Given the description of an element on the screen output the (x, y) to click on. 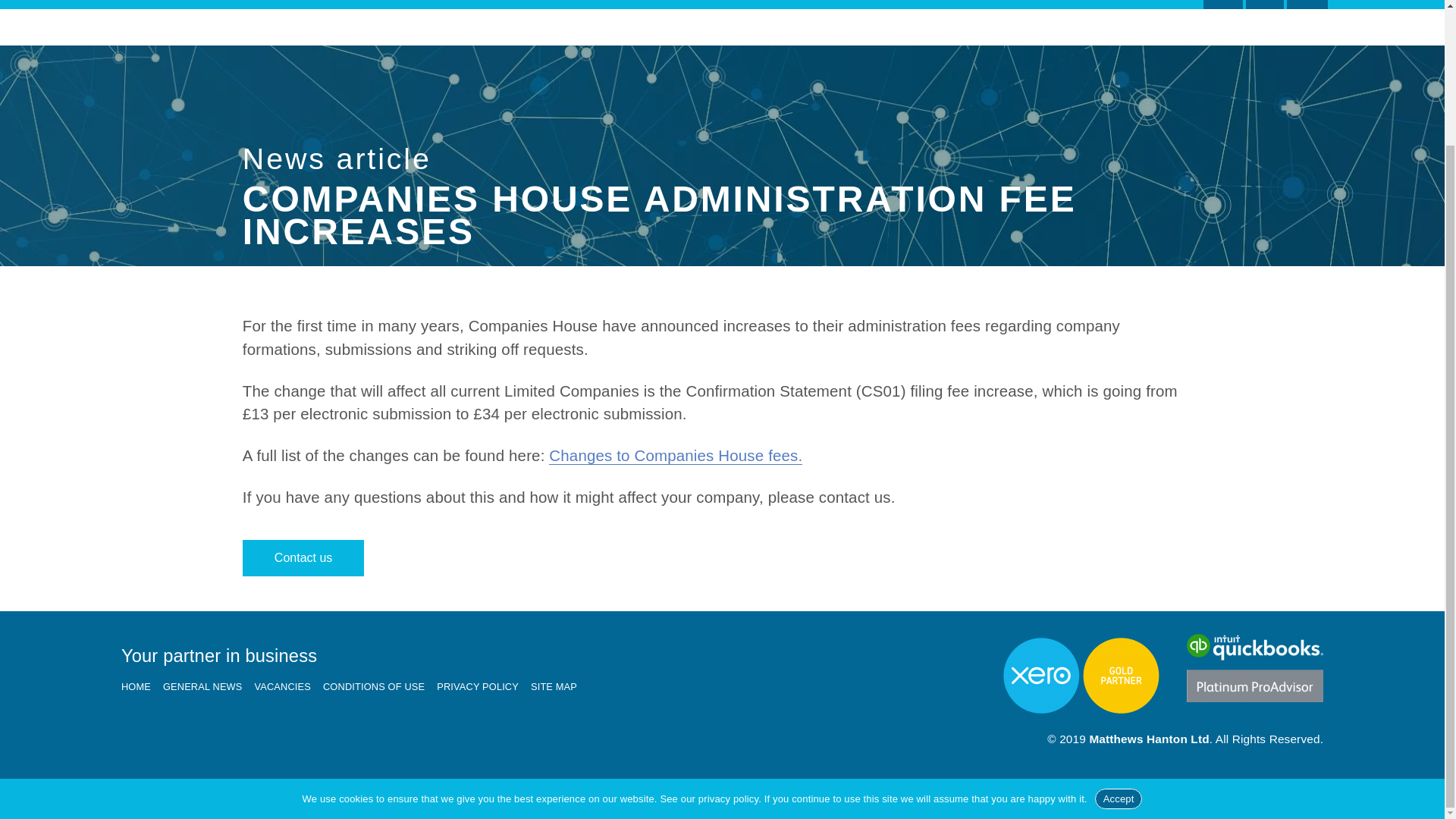
CRONER-I HUB (754, 4)
PAY (1307, 4)
SERVICES (624, 4)
xero-gold-partner-badge-RGB (1080, 675)
VACANCIES (1138, 4)
GENERAL NEWS (208, 687)
Changes to Companies House fees. (675, 455)
HOME (141, 687)
VACANCIES (288, 687)
Quickbooks-logo-platinum-neg (1254, 667)
CONDITIONS OF USE (379, 687)
SITE MAP (560, 687)
Contact us (303, 557)
CONTACT US (895, 4)
PRIVACY POLICY (483, 687)
